Given the description of an element on the screen output the (x, y) to click on. 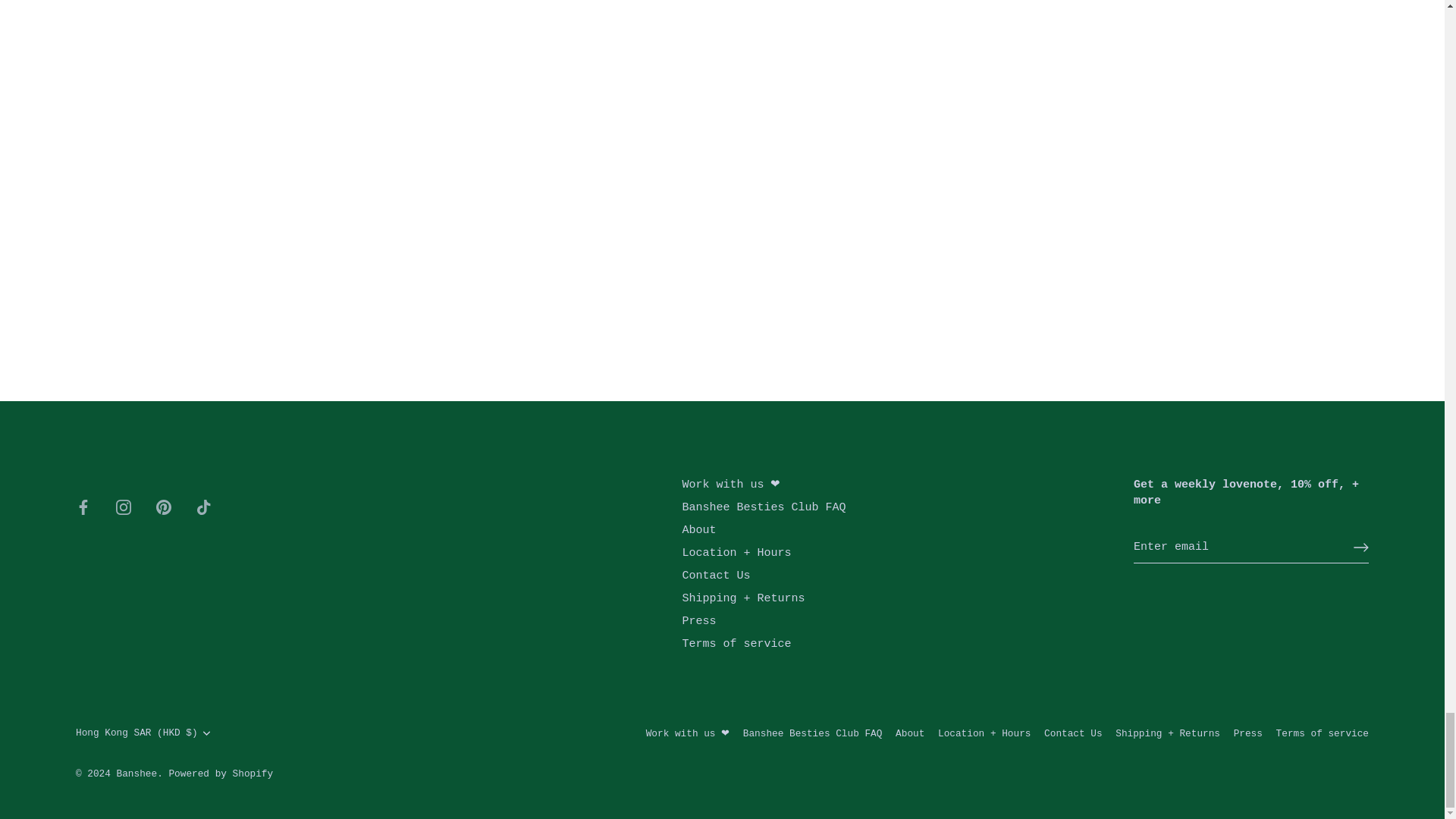
Pinterest (163, 507)
RIGHT ARROW LONG (1361, 547)
Instagram (123, 507)
